Given the description of an element on the screen output the (x, y) to click on. 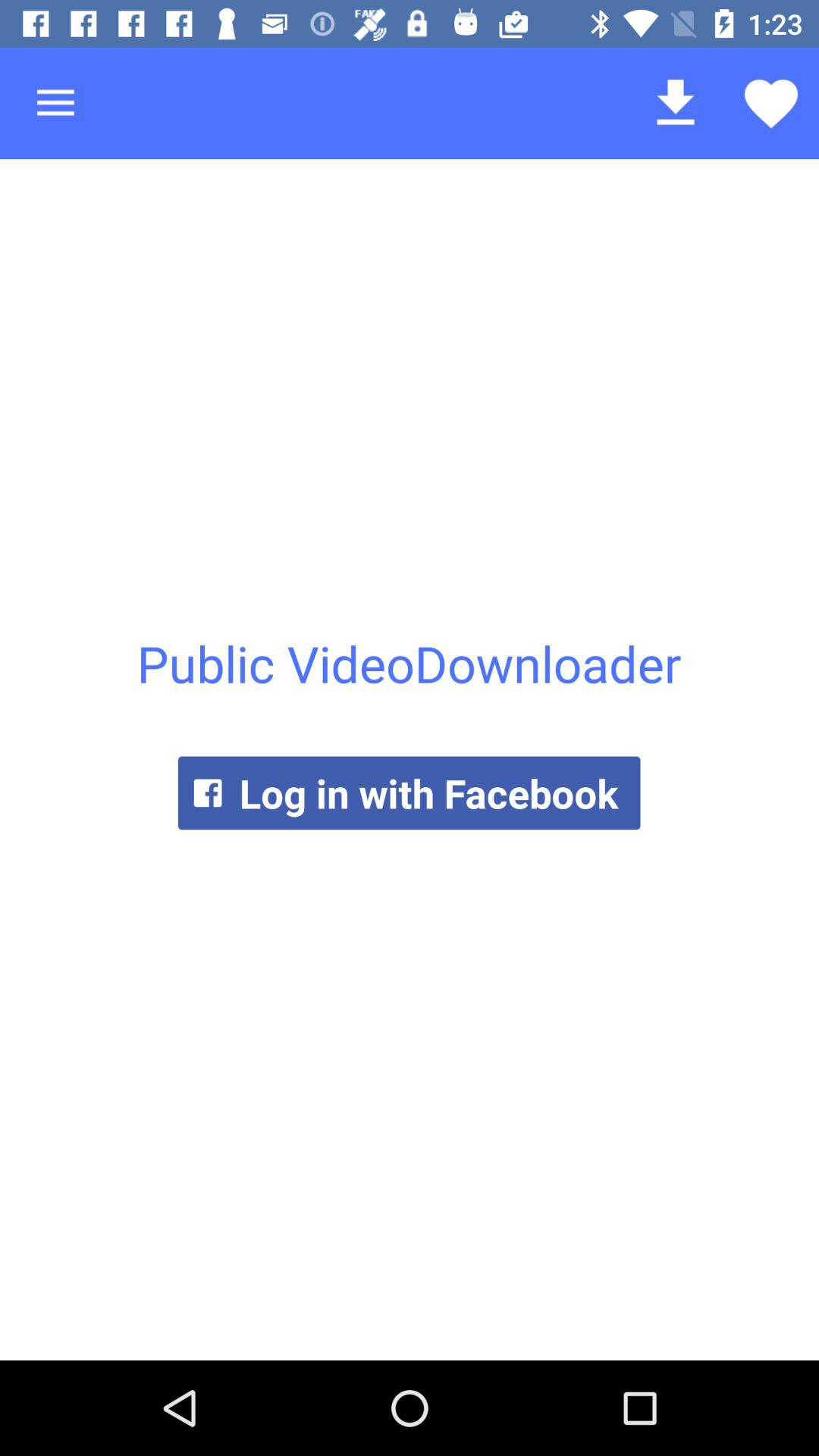
launch icon at the top left corner (55, 103)
